Given the description of an element on the screen output the (x, y) to click on. 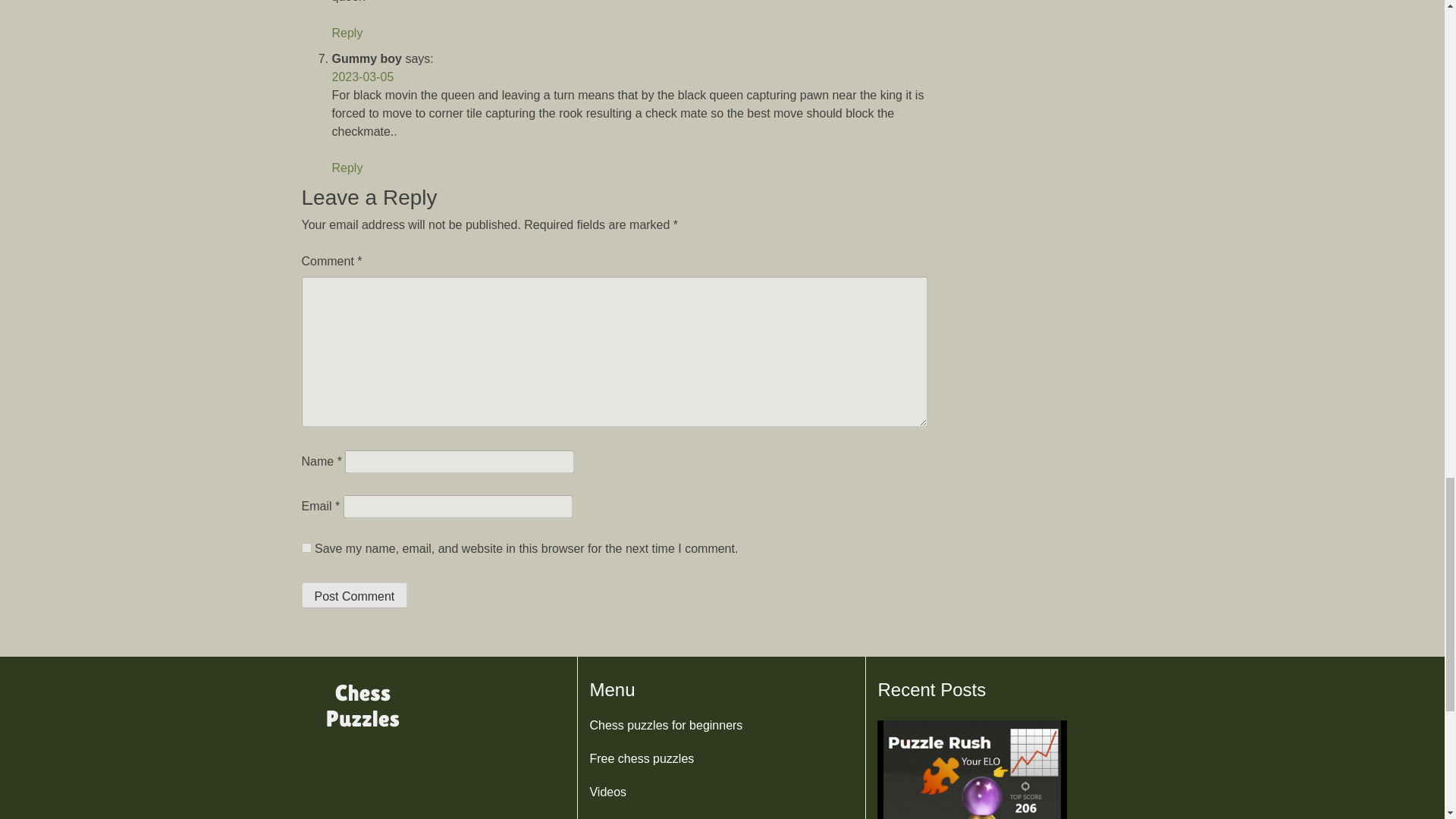
Post Comment (354, 595)
Reply (346, 32)
2023-03-05 (362, 76)
Reply (346, 167)
Chess puzzles for beginners (665, 725)
Post Comment (354, 595)
Videos (607, 791)
Free chess puzzles (641, 758)
yes (306, 547)
